Given the description of an element on the screen output the (x, y) to click on. 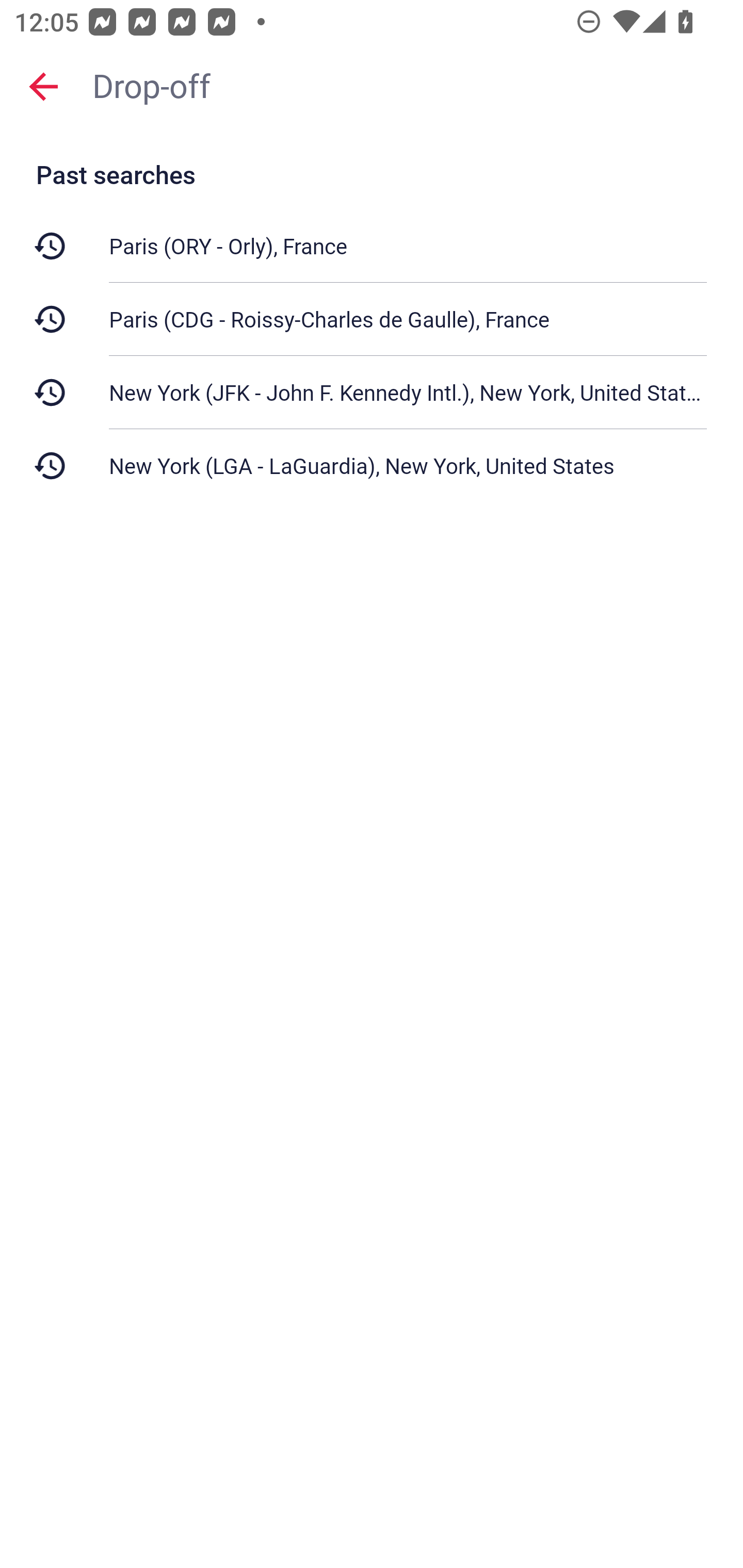
Drop-off,  (407, 85)
Close search screen (43, 86)
